Given the description of an element on the screen output the (x, y) to click on. 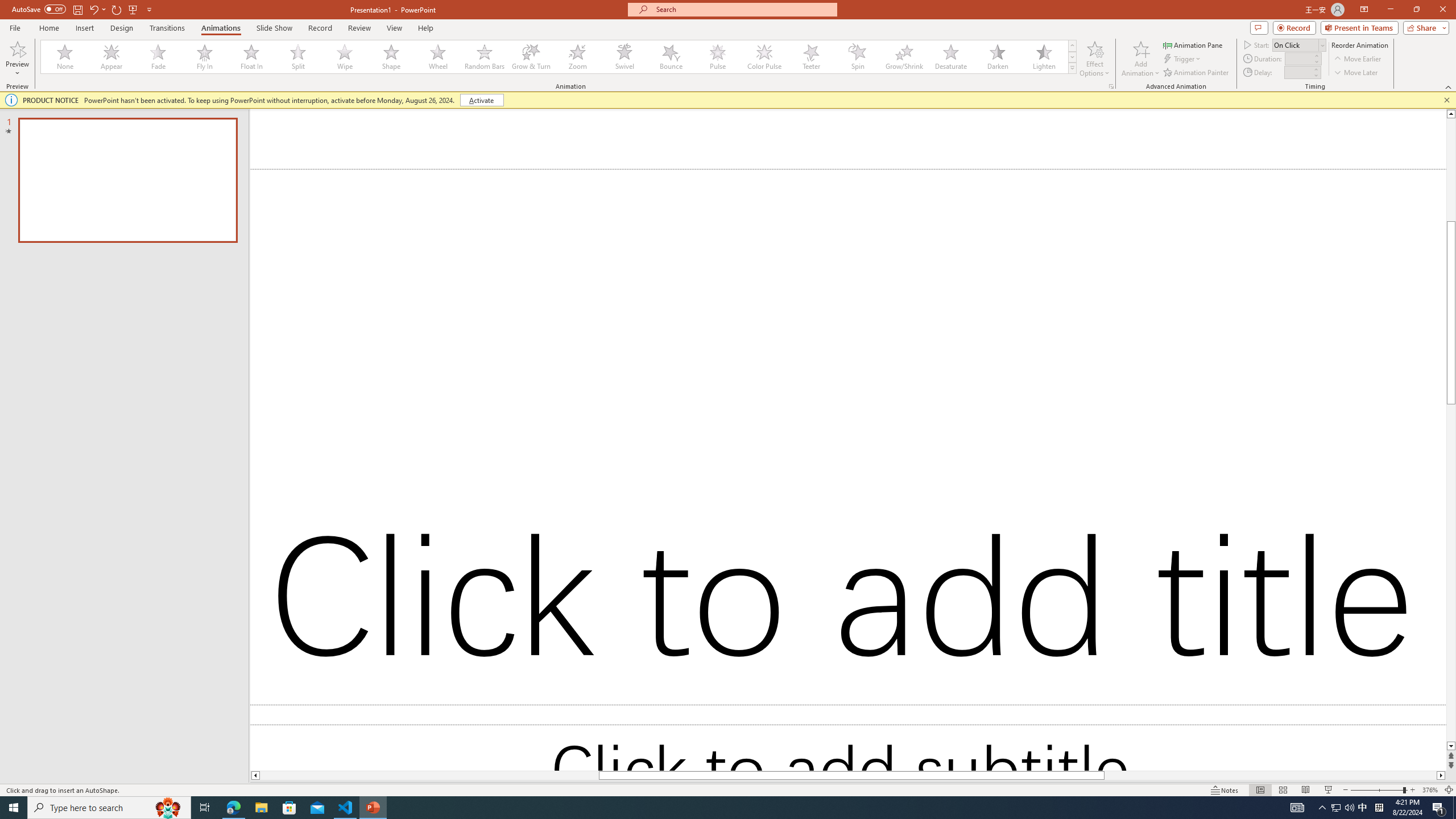
Color Pulse (764, 56)
Activate (481, 100)
Animation Duration (1298, 58)
Animation Styles (1071, 67)
Swivel (624, 56)
